Given the description of an element on the screen output the (x, y) to click on. 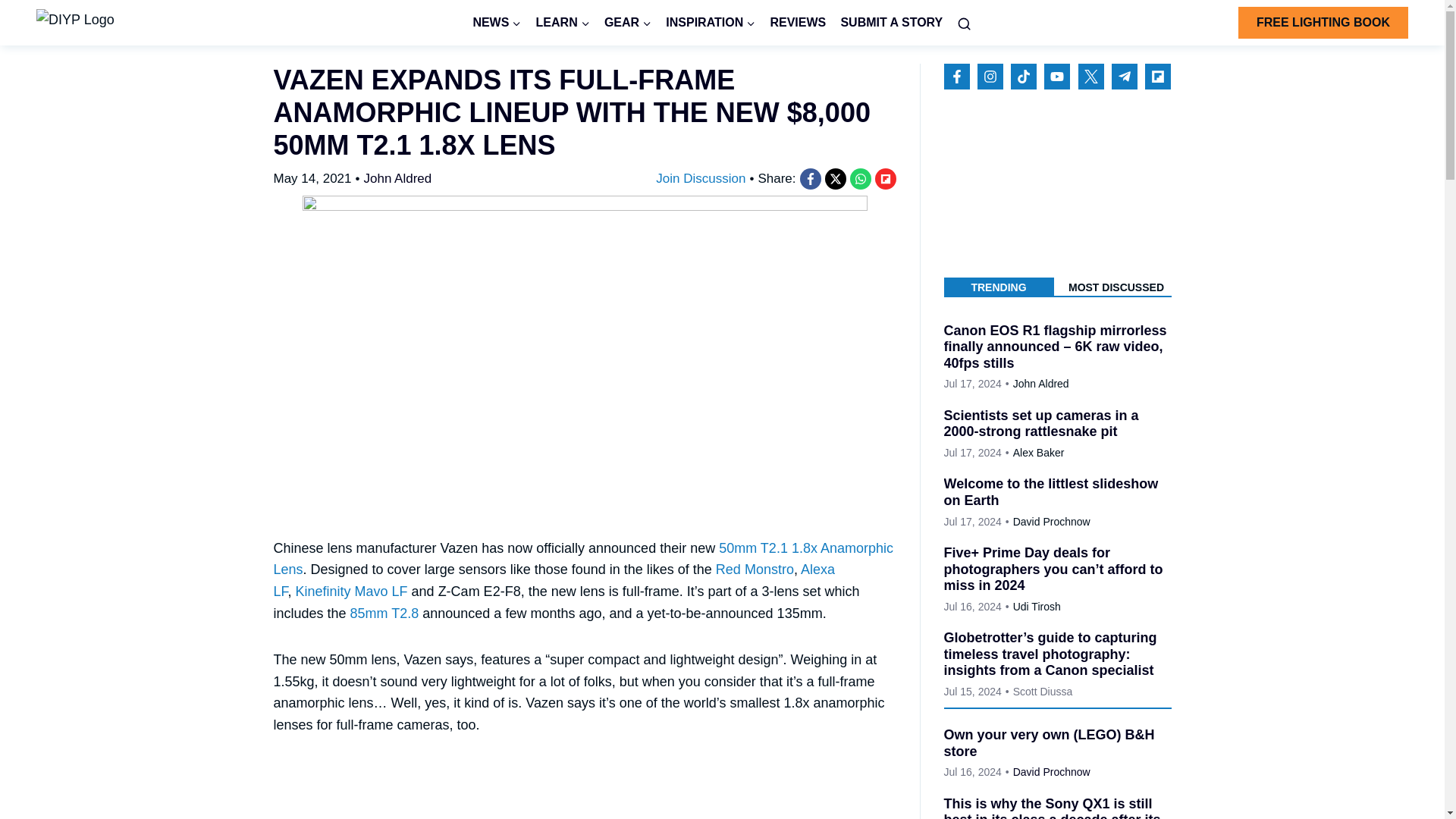
NEWS (496, 22)
